Given the description of an element on the screen output the (x, y) to click on. 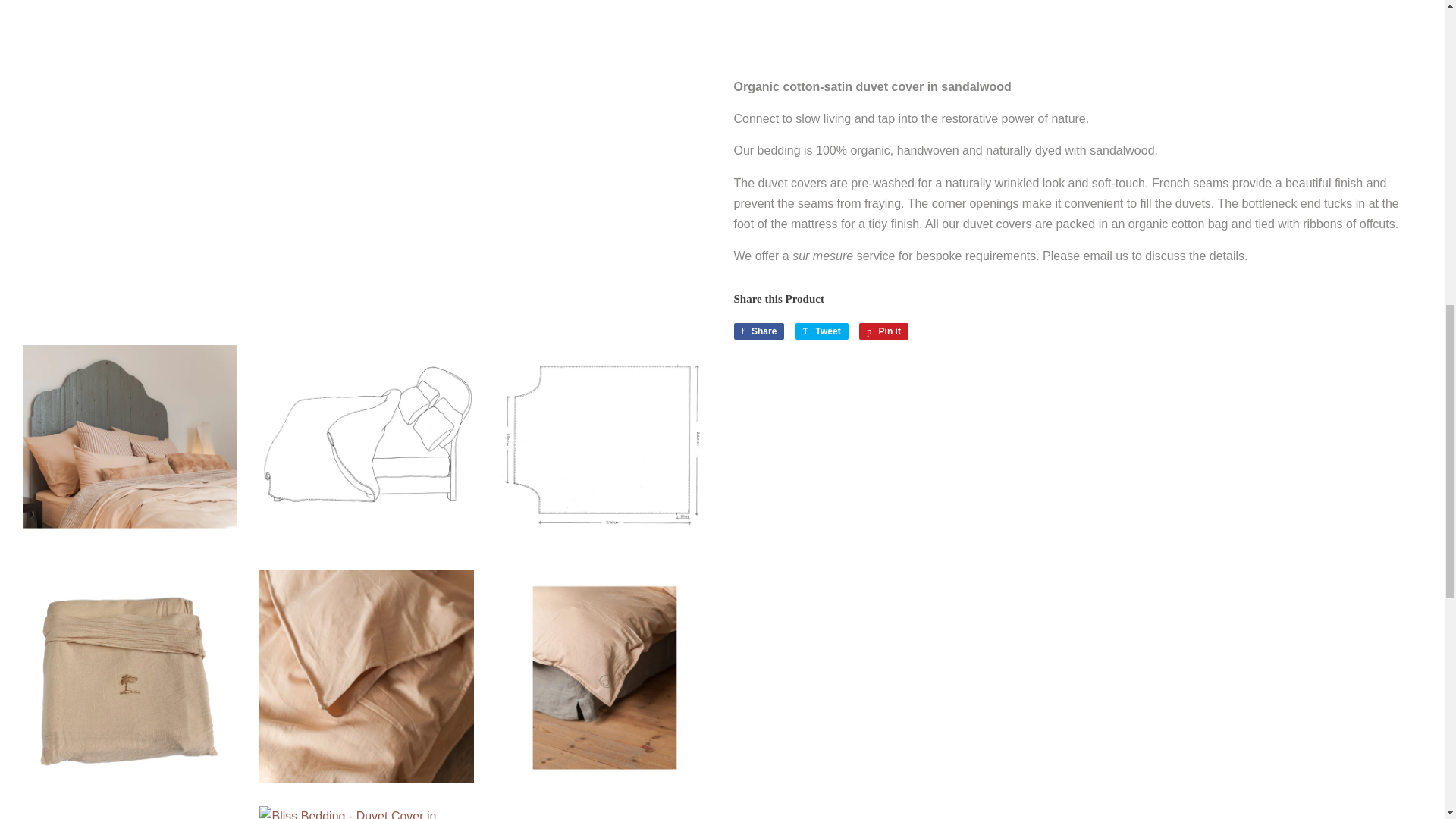
Pin on Pinterest (883, 330)
Share on Facebook (758, 330)
Tweet on Twitter (758, 330)
